Given the description of an element on the screen output the (x, y) to click on. 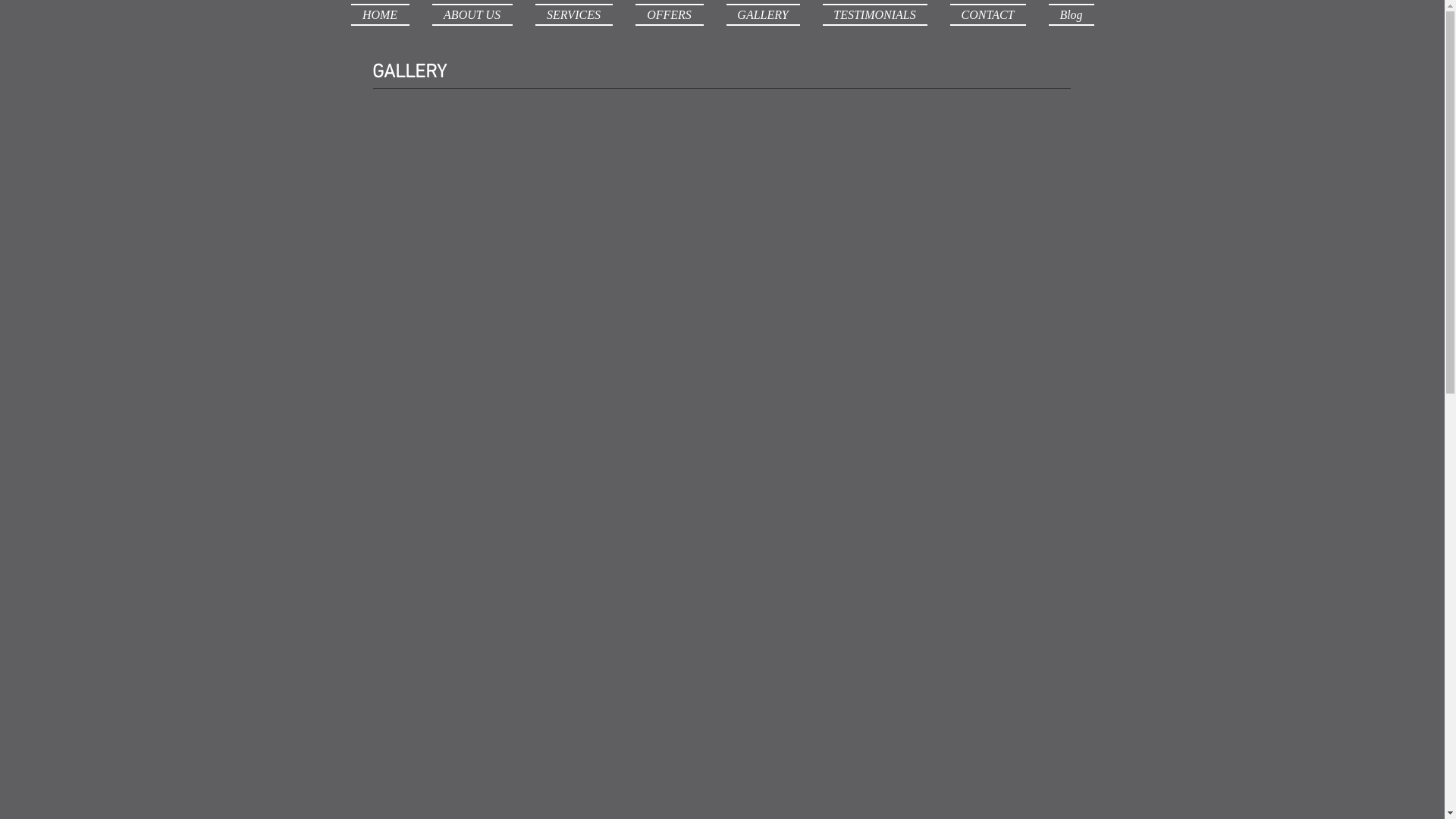
SERVICES Element type: text (573, 14)
Blog Element type: text (1065, 14)
ABOUT US Element type: text (471, 14)
GALLERY Element type: text (762, 14)
OFFERS Element type: text (668, 14)
CONTACT Element type: text (987, 14)
TESTIMONIALS Element type: text (874, 14)
HOME Element type: text (385, 14)
